Given the description of an element on the screen output the (x, y) to click on. 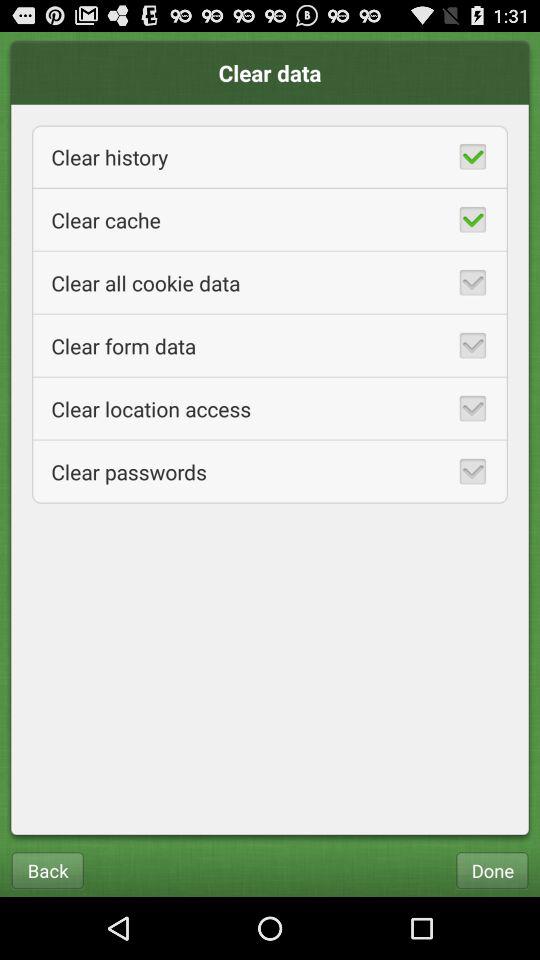
click the button at the bottom right corner (492, 870)
